Given the description of an element on the screen output the (x, y) to click on. 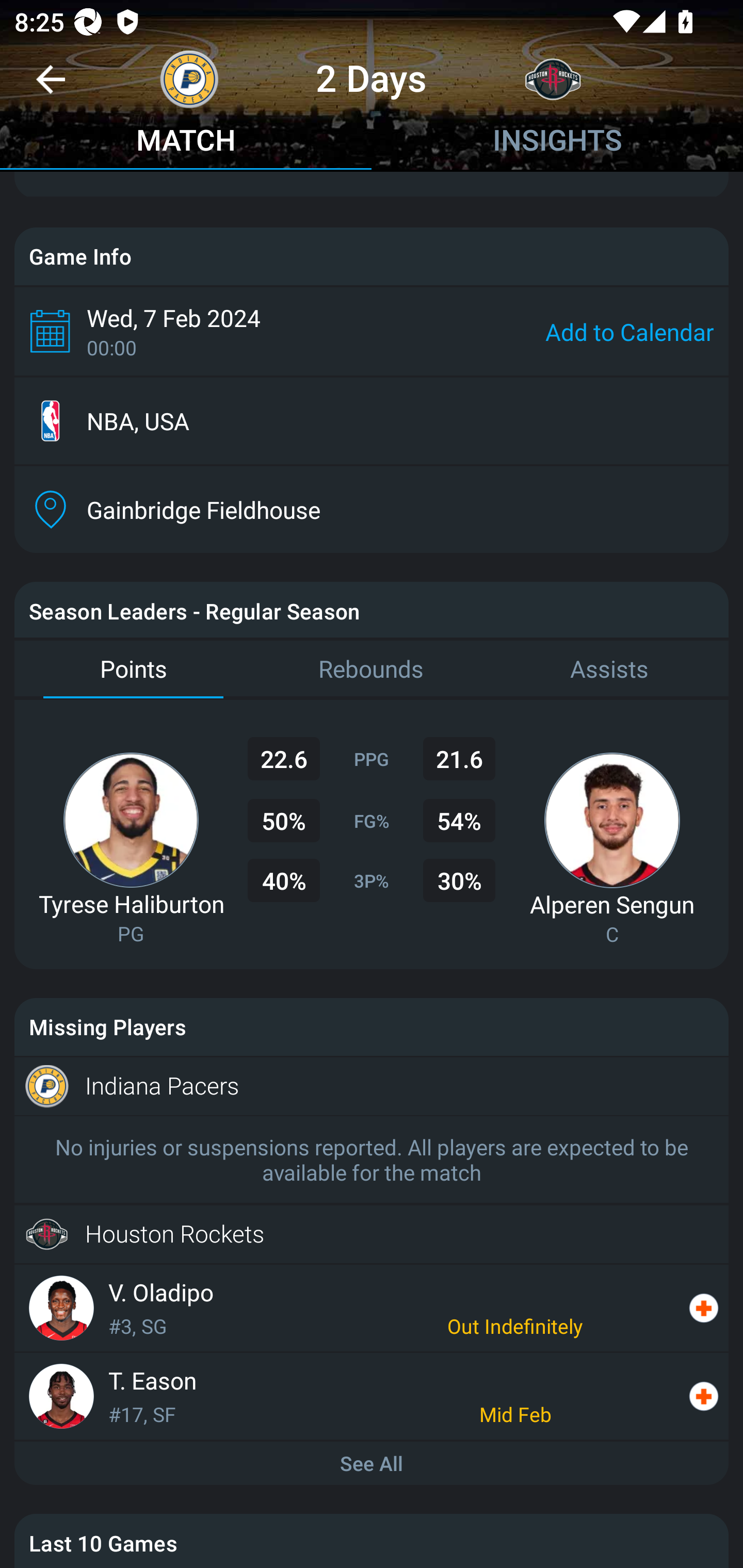
Navigate up (50, 86)
MATCH (185, 142)
INSIGHTS (557, 142)
Game Info (371, 256)
Wed, 7 Feb 2024 00:00 Add to Calendar (371, 330)
NBA, USA (371, 420)
Gainbridge Fieldhouse (371, 509)
Rebounds (371, 669)
Assists (609, 669)
Tyrese Haliburton (131, 903)
Alperen Sengun (611, 903)
Missing Players (371, 1026)
Indiana Pacers (371, 1085)
Houston Rockets (371, 1234)
V. Oladipo #3, SG Out Indefinitely (371, 1308)
T. Eason #17, SF Mid Feb (371, 1396)
See All (371, 1462)
